Given the description of an element on the screen output the (x, y) to click on. 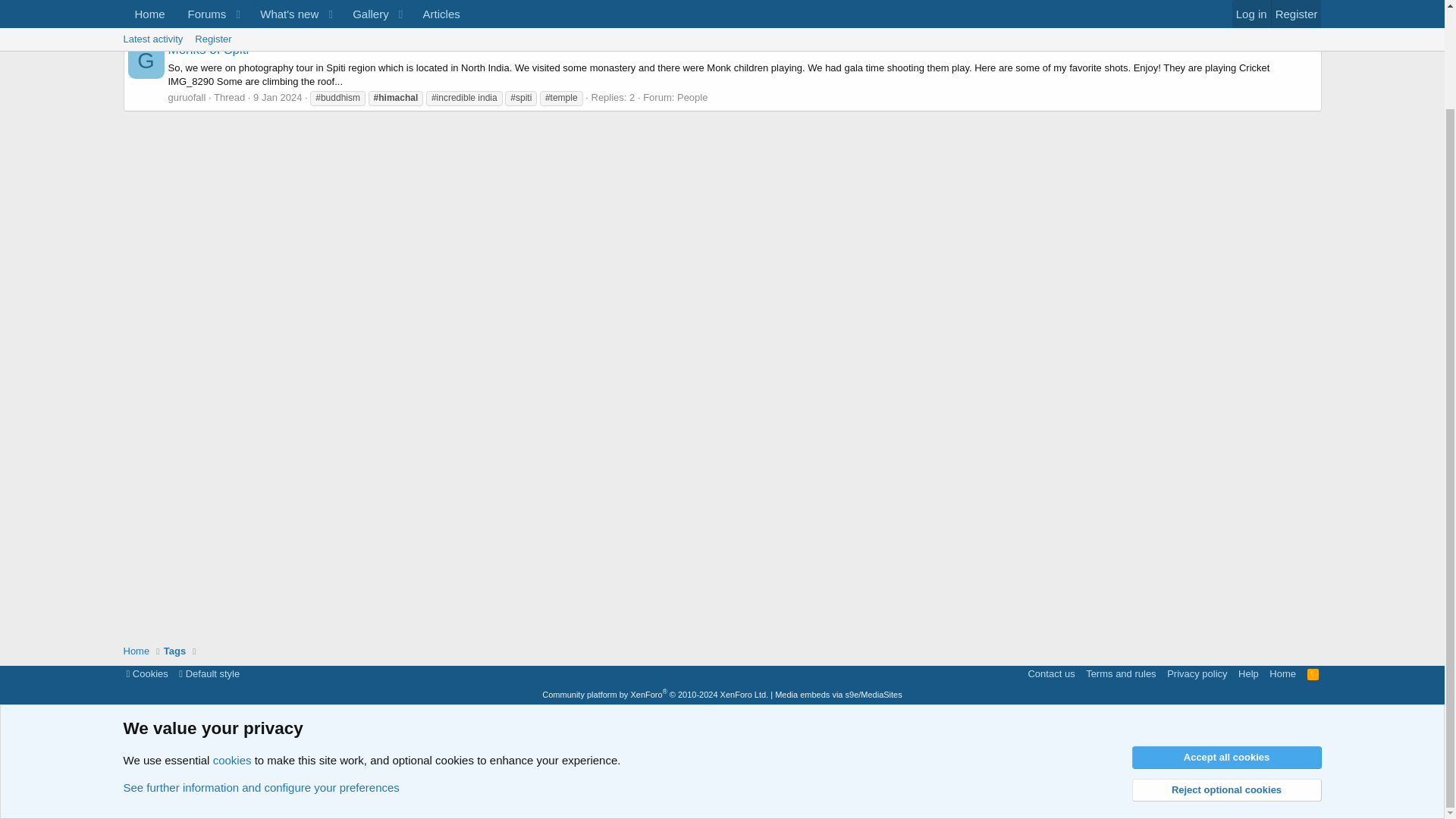
Default style (209, 673)
Tags (174, 651)
Home (721, 10)
Monks of Spiti (135, 651)
G (208, 49)
People (145, 60)
guruofall (692, 97)
Cookies (187, 97)
Contact us (146, 673)
Tags (1051, 673)
Home (174, 2)
Terms and rules (135, 2)
RSS (1120, 673)
9 Jan 2024 at 03:23 (1313, 673)
